Given the description of an element on the screen output the (x, y) to click on. 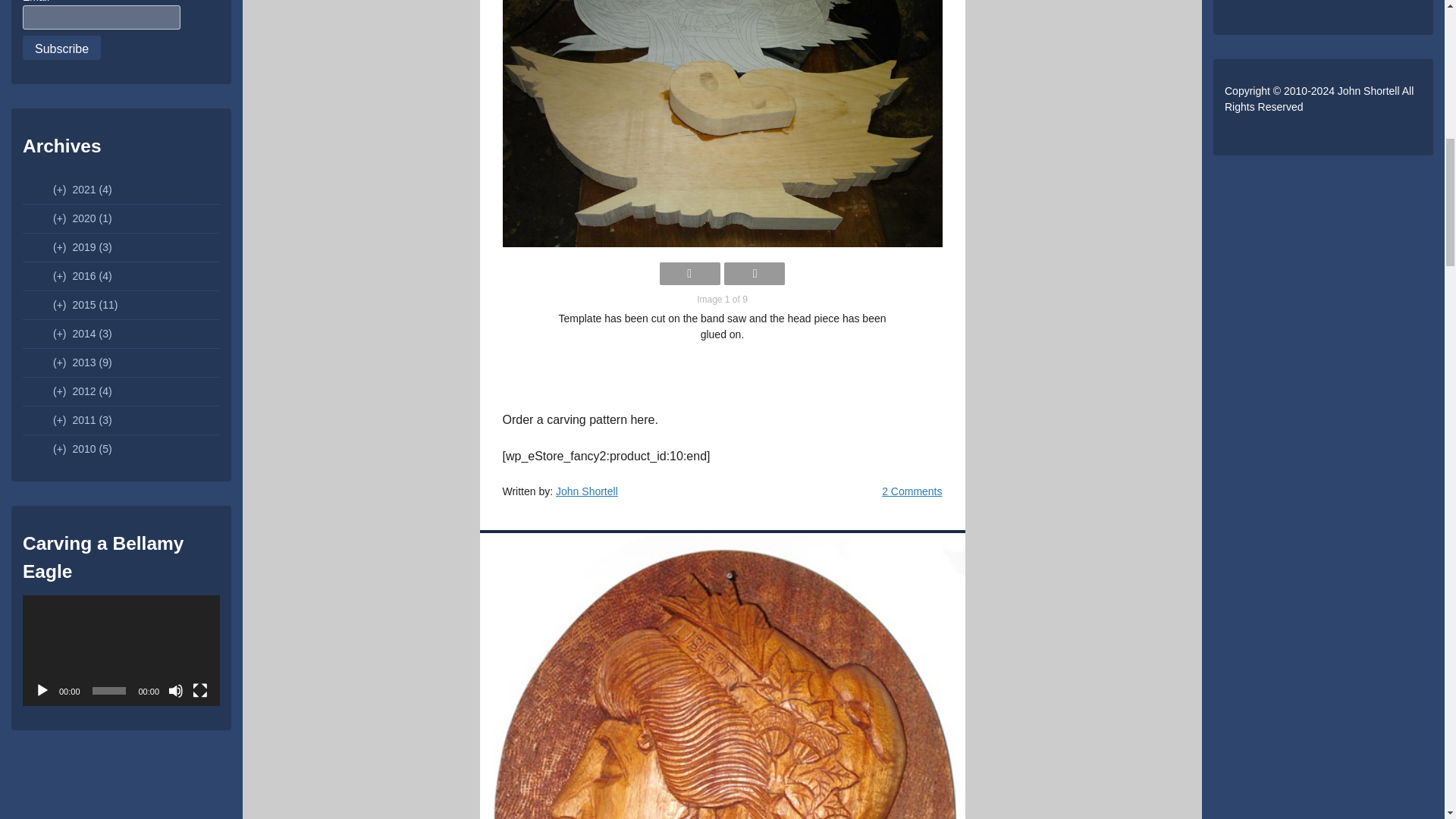
2020 (82, 218)
2019 (82, 246)
Subscribe (61, 47)
2021 (82, 189)
Subscribe (61, 47)
